Given the description of an element on the screen output the (x, y) to click on. 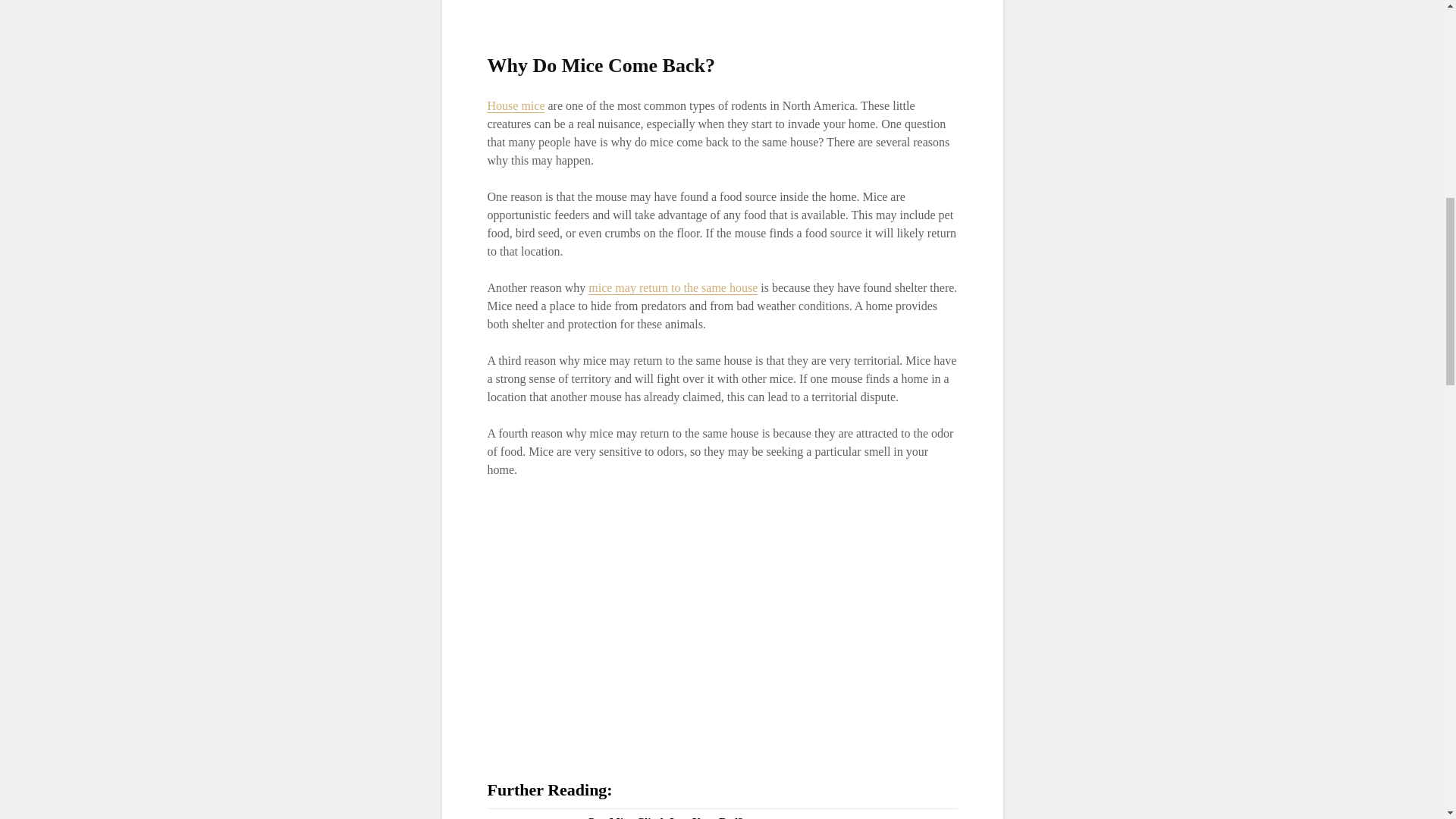
YouTube video player (698, 616)
